Given the description of an element on the screen output the (x, y) to click on. 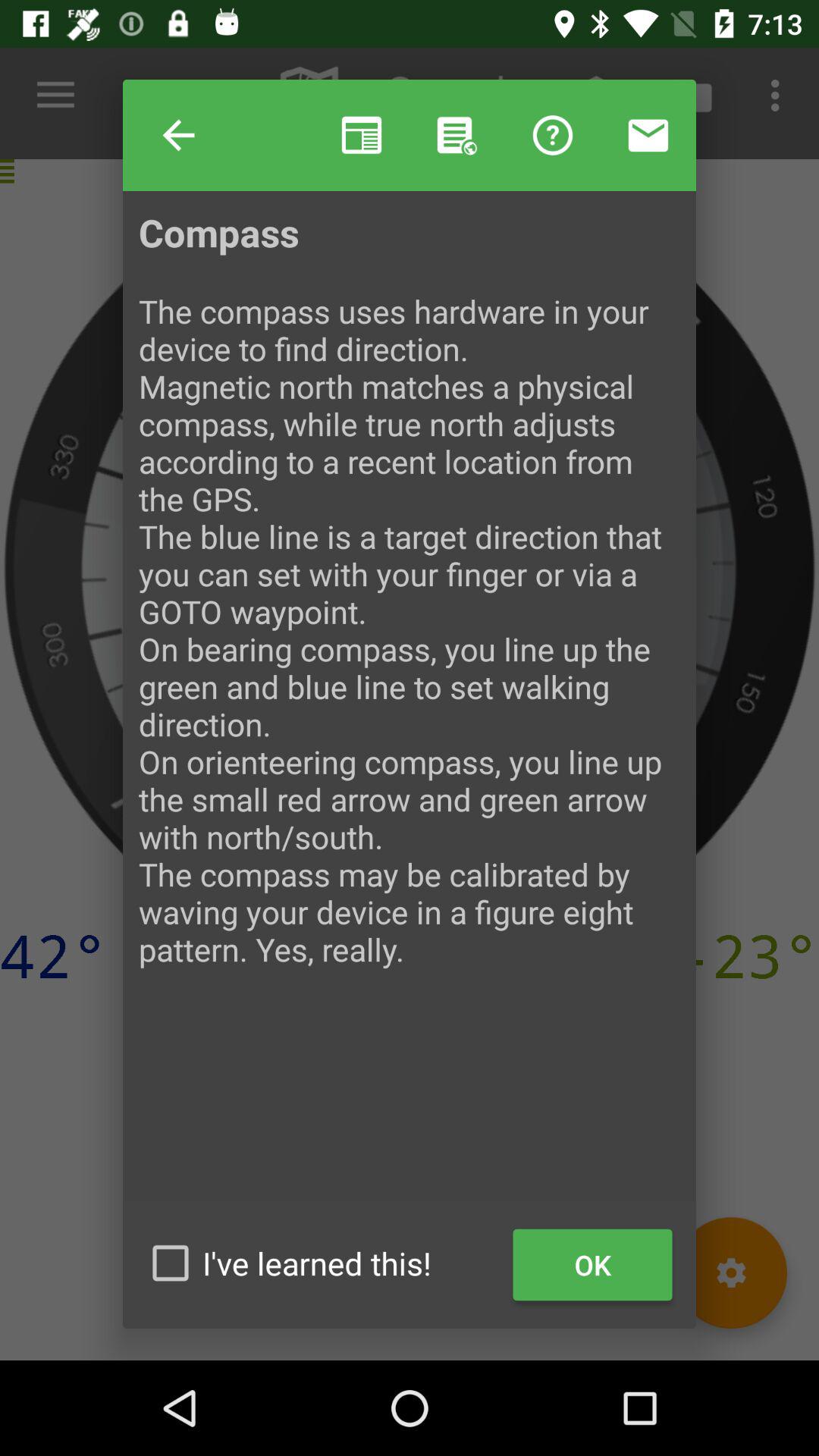
press item to the left of the ok icon (321, 1263)
